Given the description of an element on the screen output the (x, y) to click on. 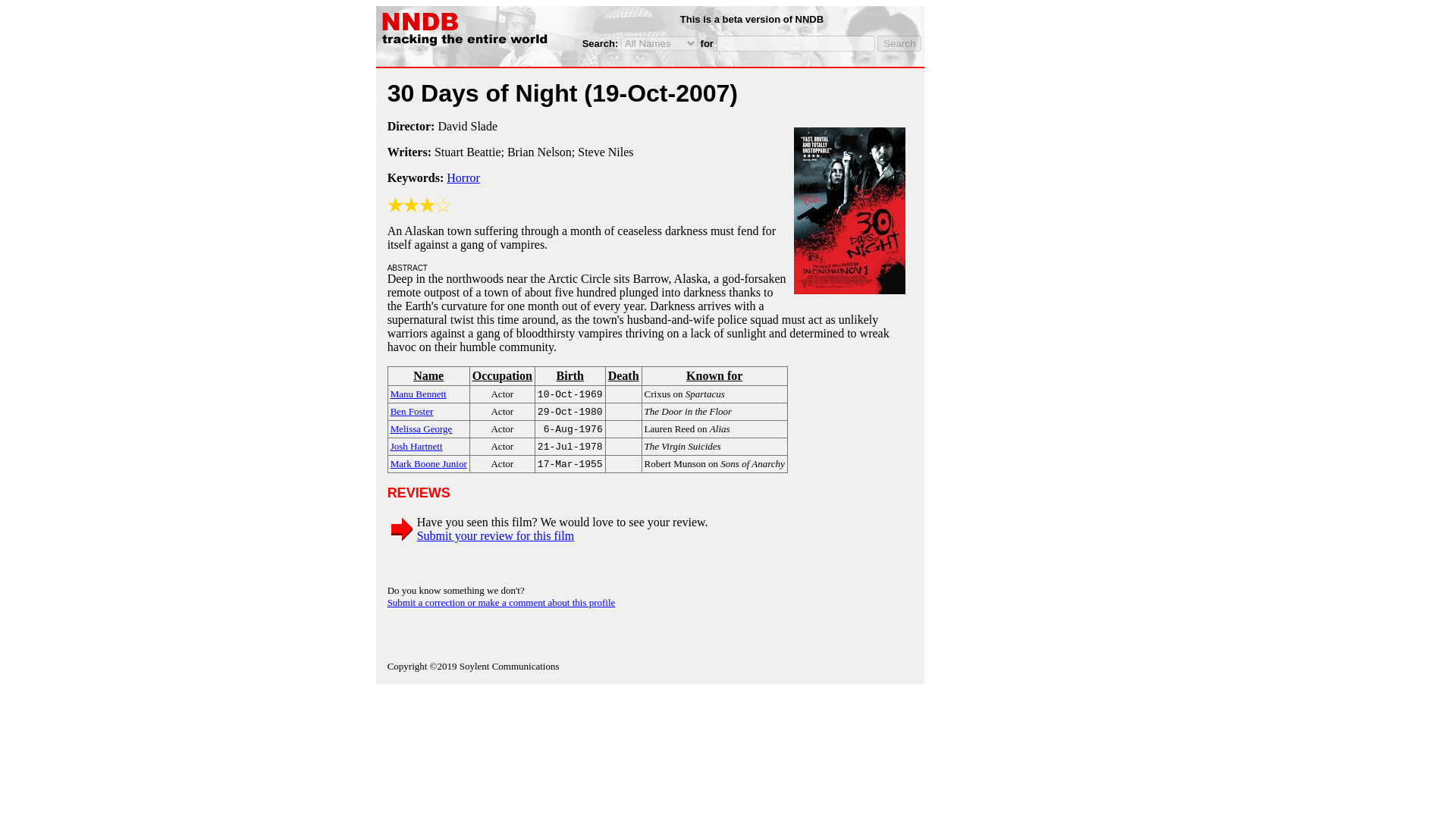
Josh Hartnett (416, 445)
Melissa George (421, 427)
Name (428, 376)
Known for (714, 376)
Submit a correction or make a comment about this profile (501, 602)
Submit your review for this film (495, 535)
Ben Foster (411, 410)
Search (899, 43)
Death (623, 376)
Mark Boone Junior (428, 462)
